Given the description of an element on the screen output the (x, y) to click on. 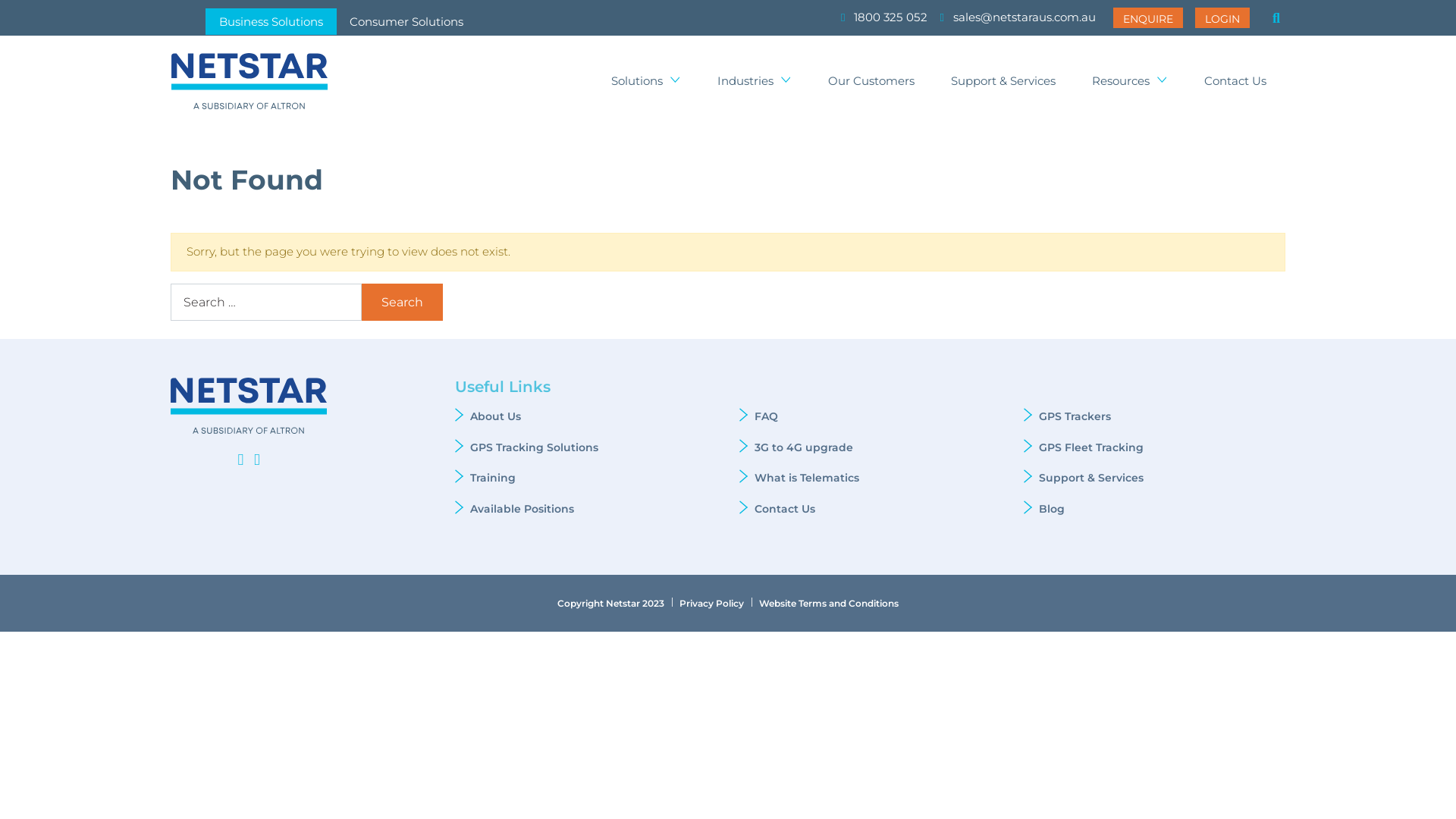
Consumer Solutions Element type: text (406, 21)
Business Solutions Element type: text (271, 21)
ENQUIRE Element type: text (1148, 17)
FAQ Element type: text (766, 416)
Search Element type: text (401, 301)
Support & Services Element type: text (1002, 81)
Solutions Element type: text (646, 81)
1800 325 052 Element type: text (884, 17)
Training Element type: text (492, 477)
sales@netstaraus.com.au Element type: text (1017, 17)
3G to 4G upgrade  Element type: text (805, 447)
Linkedin Element type: text (240, 458)
Privacy Policy Element type: text (711, 602)
Facebook Element type: text (257, 458)
What is Telematics Element type: text (806, 477)
GPS Fleet Tracking  Element type: text (1092, 447)
GPS Trackers Element type: text (1074, 416)
Our Customers Element type: text (870, 81)
Website Terms and Conditions Element type: text (828, 602)
Blog Element type: text (1051, 508)
Contact Us Element type: text (1235, 81)
About Us Element type: text (495, 416)
Industries Element type: text (754, 81)
LOGIN Element type: text (1222, 17)
GPS Tracking Solutions Element type: text (534, 447)
Contact Us Element type: text (784, 508)
Available Positions Element type: text (522, 508)
Resources Element type: text (1129, 81)
Support & Services Element type: text (1090, 477)
Search Element type: text (1276, 18)
